Given the description of an element on the screen output the (x, y) to click on. 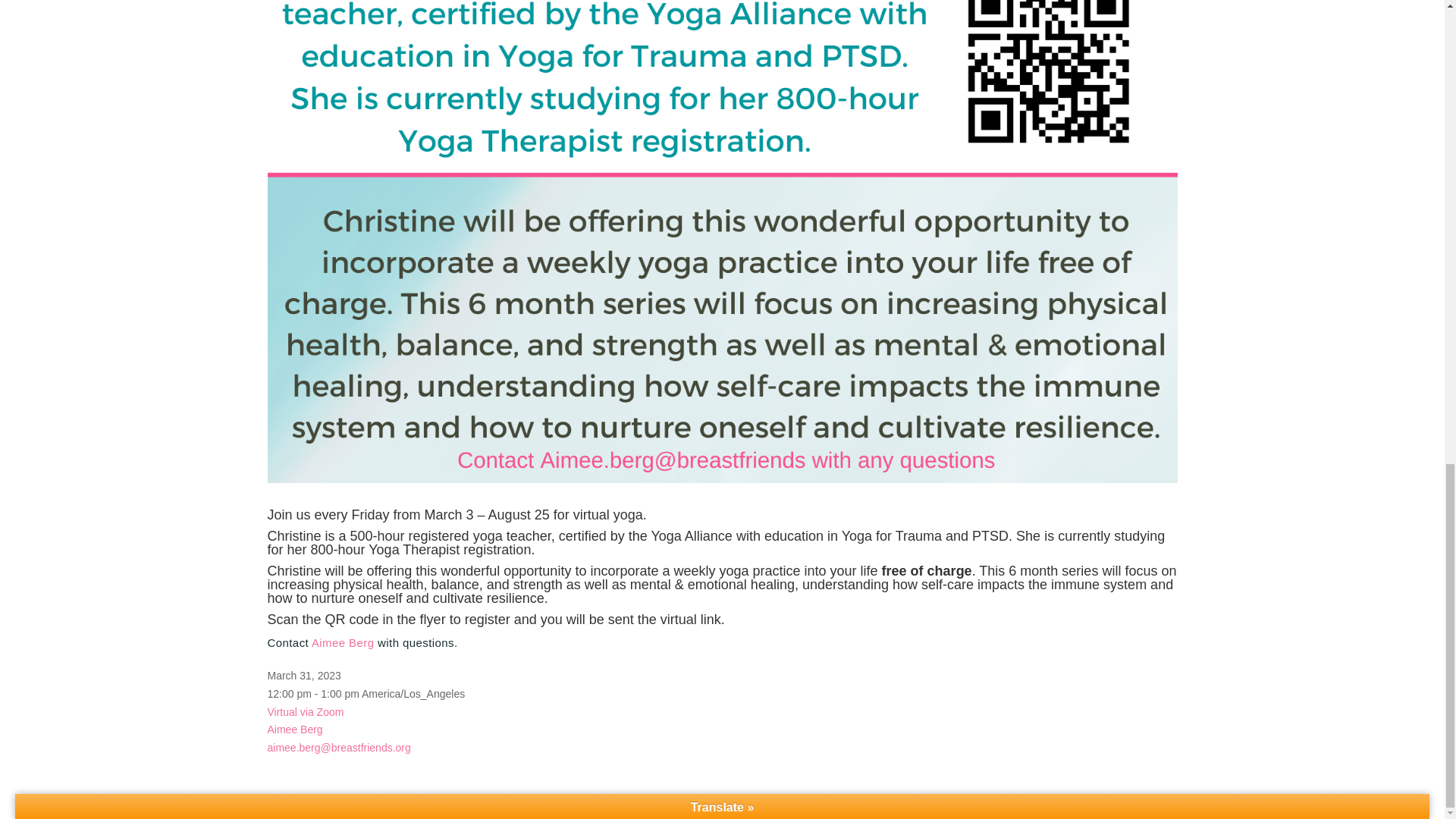
Virtual via Zoom (304, 711)
Aimee Berg (293, 729)
Aimee Berg (342, 642)
